Given the description of an element on the screen output the (x, y) to click on. 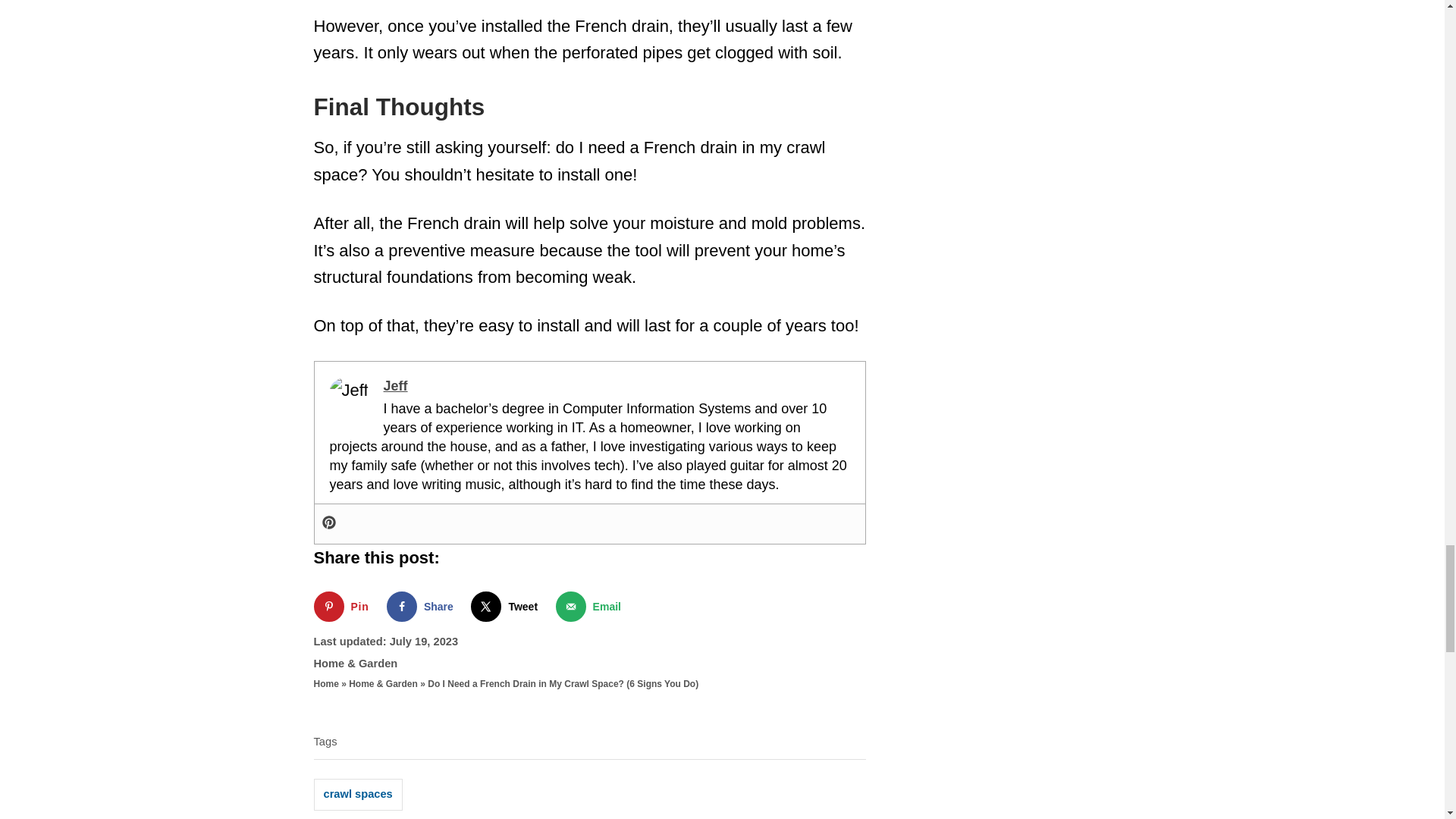
Send over email (591, 606)
Share (423, 606)
Email (591, 606)
Tweet (507, 606)
Save to Pinterest (344, 606)
Share on Facebook (423, 606)
Share on X (507, 606)
Home (326, 683)
Pin (344, 606)
crawl spaces (358, 794)
